Given the description of an element on the screen output the (x, y) to click on. 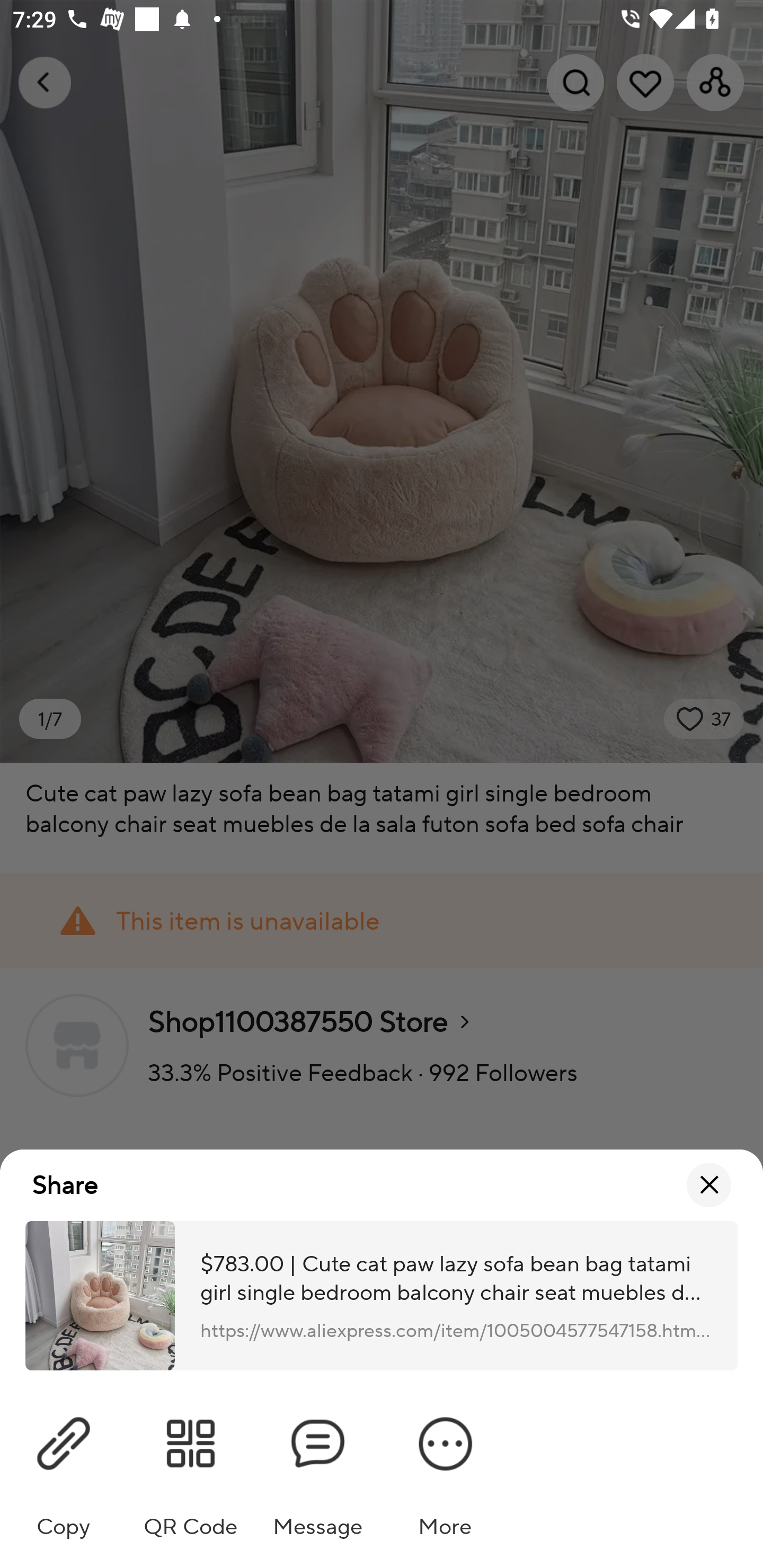
 (708, 1185)
Copy (63, 1469)
QR Code (190, 1469)
Message (317, 1469)
More (444, 1469)
